Given the description of an element on the screen output the (x, y) to click on. 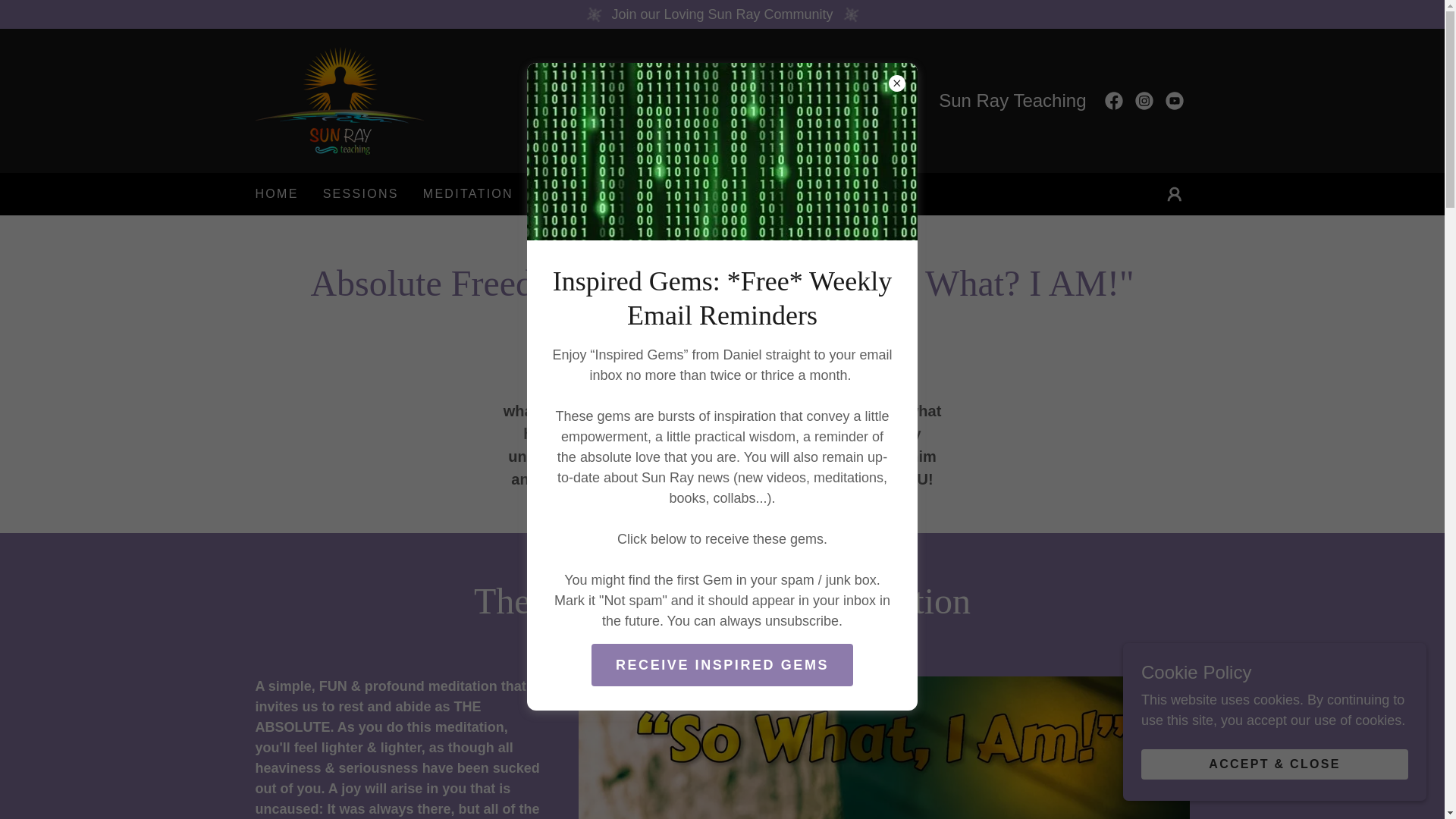
DANIEL SHAI (338, 99)
HOME (276, 194)
BOOKS (740, 194)
SESSIONS (360, 194)
GAME CHANGERS (609, 194)
MORE (827, 194)
MEDITATION (468, 194)
